Given the description of an element on the screen output the (x, y) to click on. 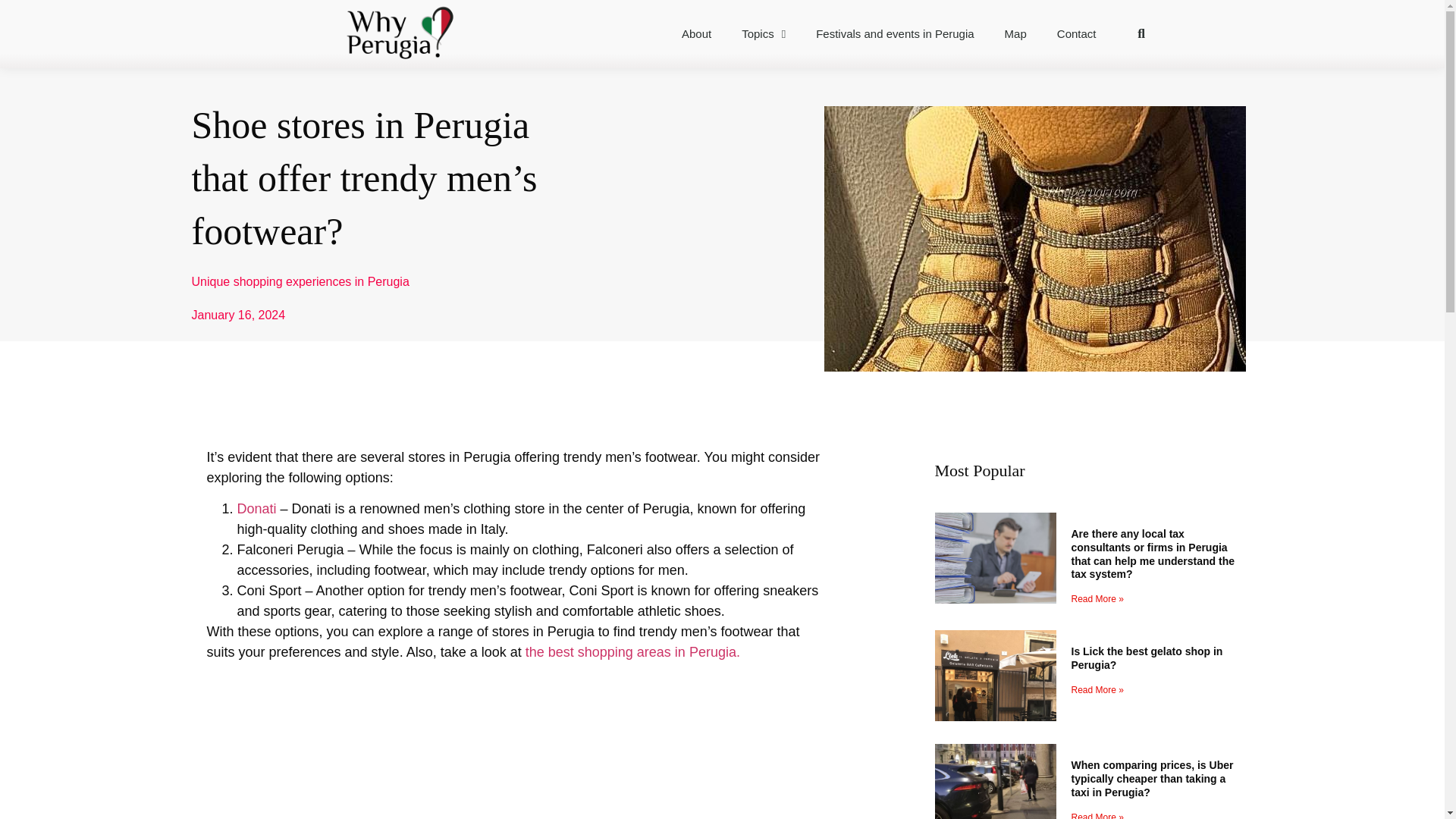
Contact (1077, 33)
Perugia, Italia (513, 765)
Festivals and events in Perugia (894, 33)
Topics (763, 33)
